Given the description of an element on the screen output the (x, y) to click on. 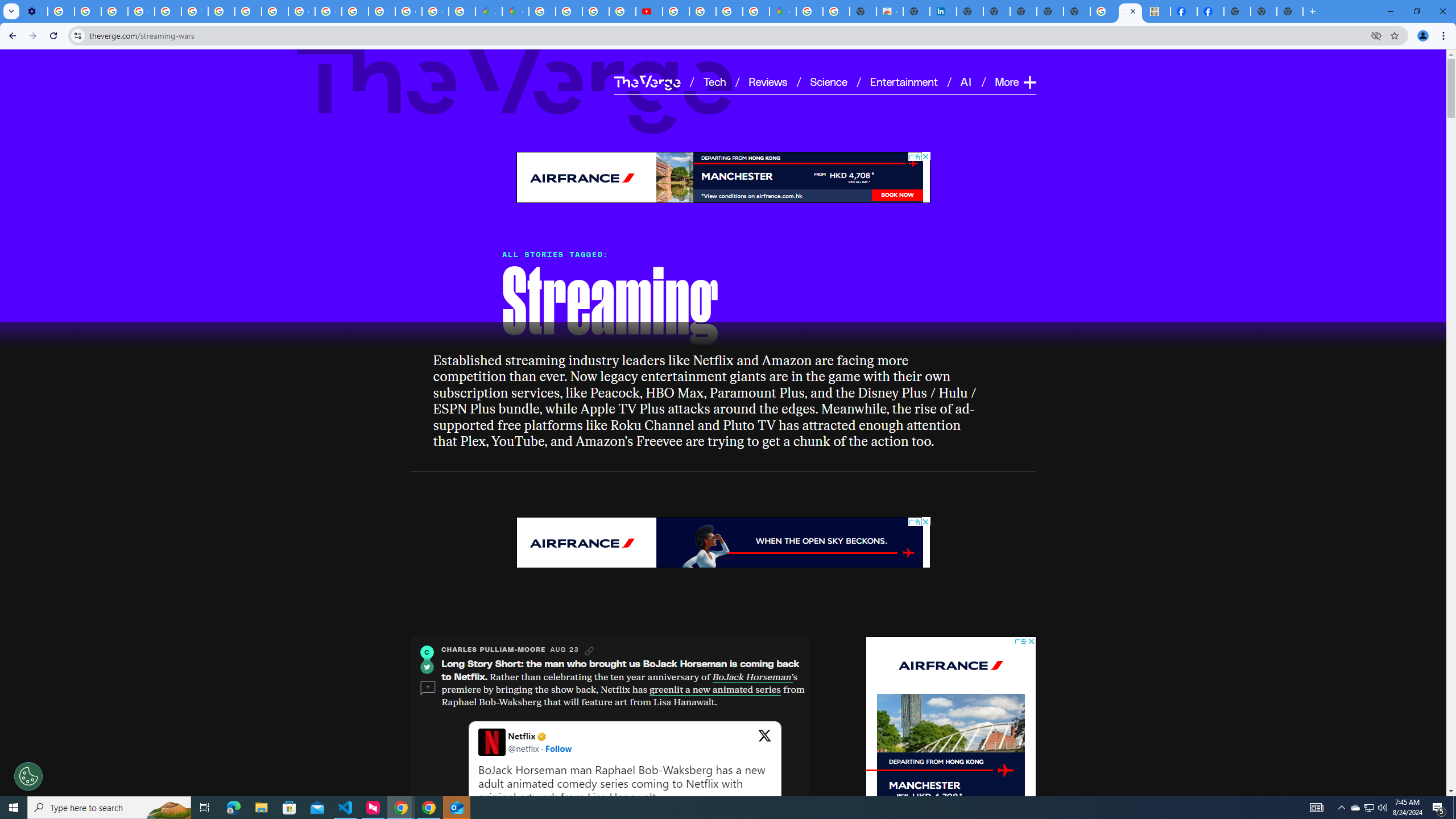
The Verge homepage The Verge (646, 81)
Copy link (589, 651)
To get missing image descriptions, open the context menu. (1005, 770)
Sign in - Google Accounts (382, 11)
Settings - Customize profile (34, 11)
AutomationID: avion (912, 162)
The Verge (515, 85)
Science (828, 81)
Follow (558, 748)
More Expand (1015, 81)
